Given the description of an element on the screen output the (x, y) to click on. 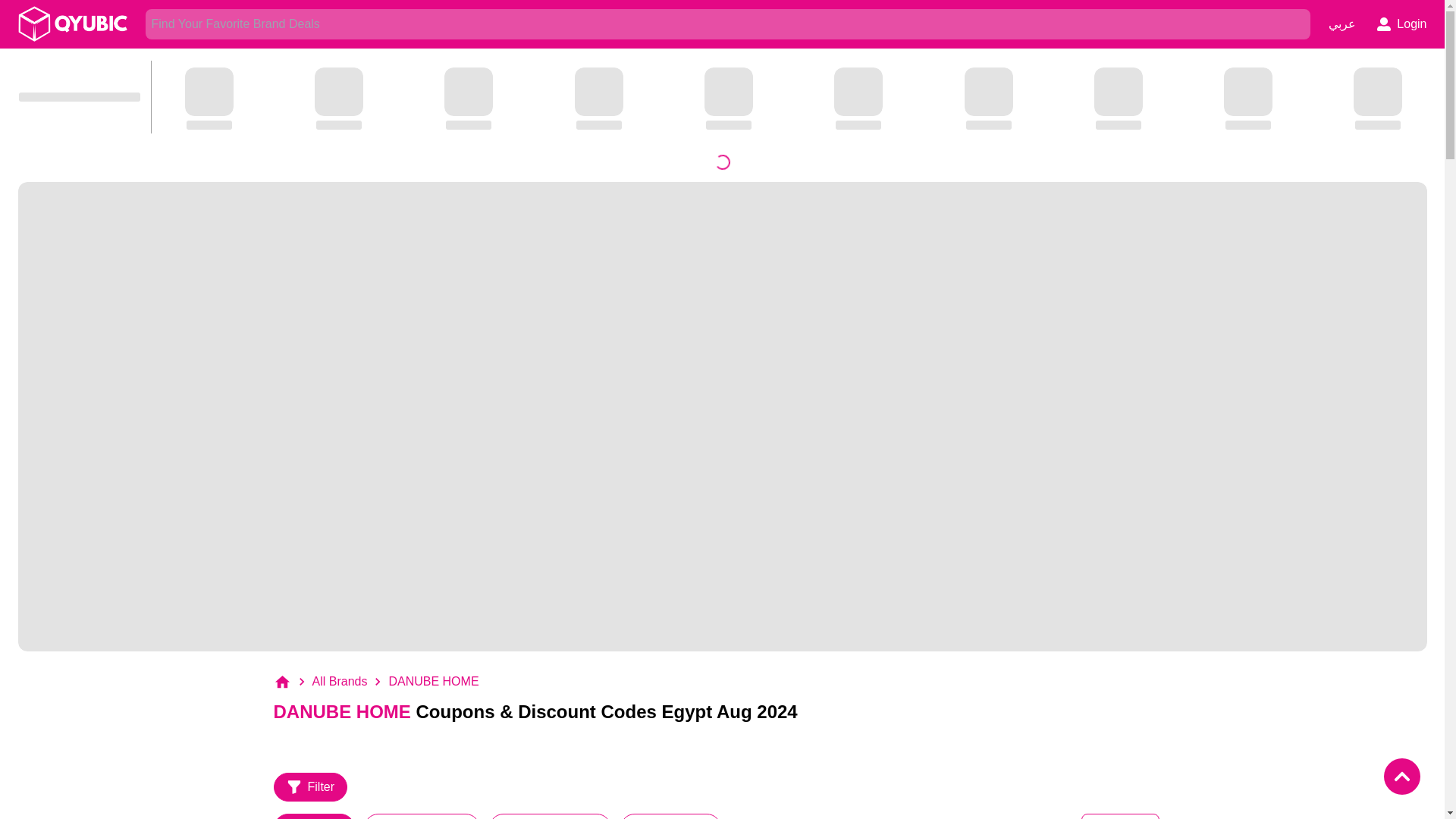
Login (1401, 24)
qyubic logo white (72, 23)
Filter (310, 787)
Sort By (1119, 816)
